Given the description of an element on the screen output the (x, y) to click on. 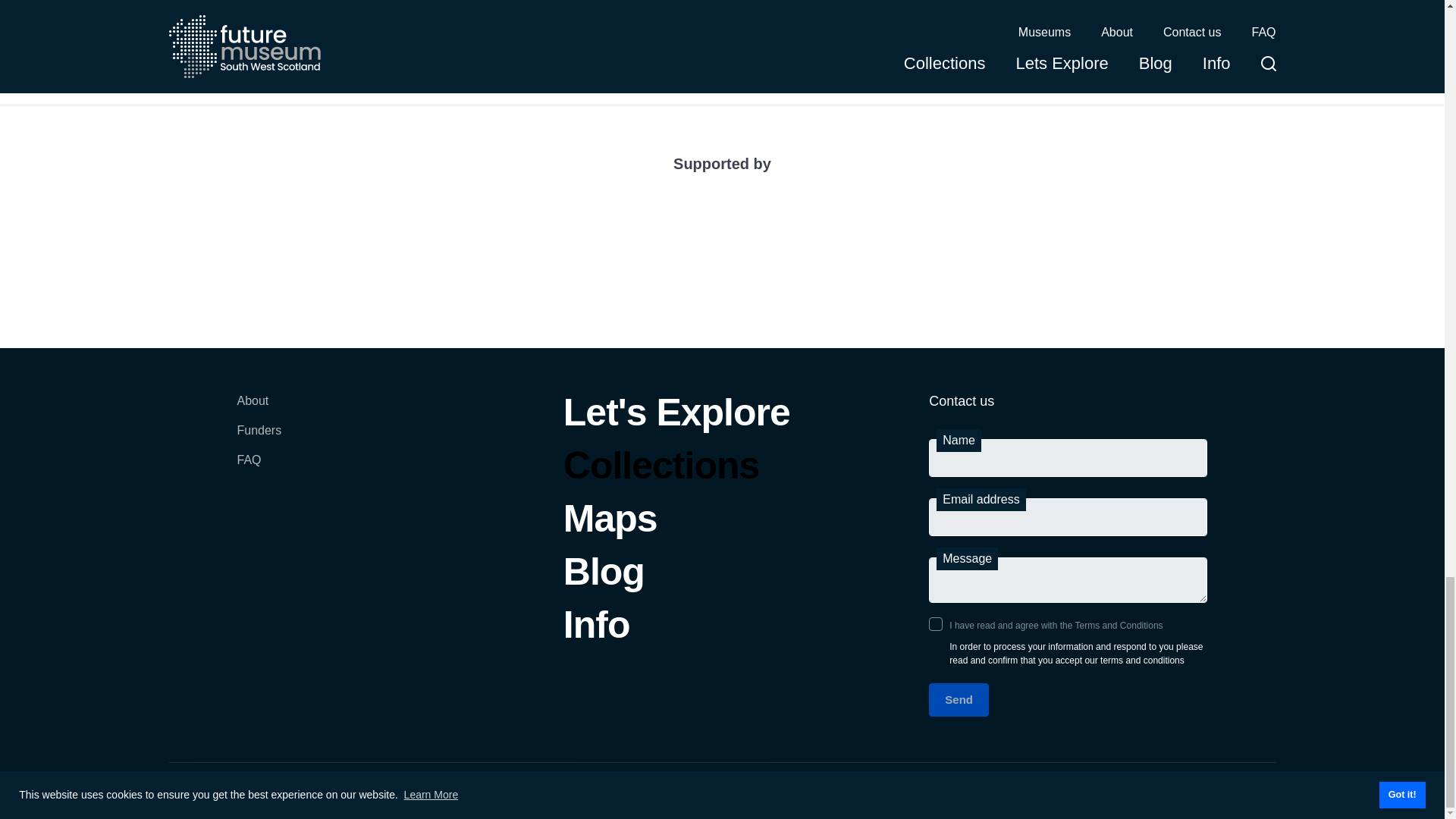
1 (935, 623)
